Given the description of an element on the screen output the (x, y) to click on. 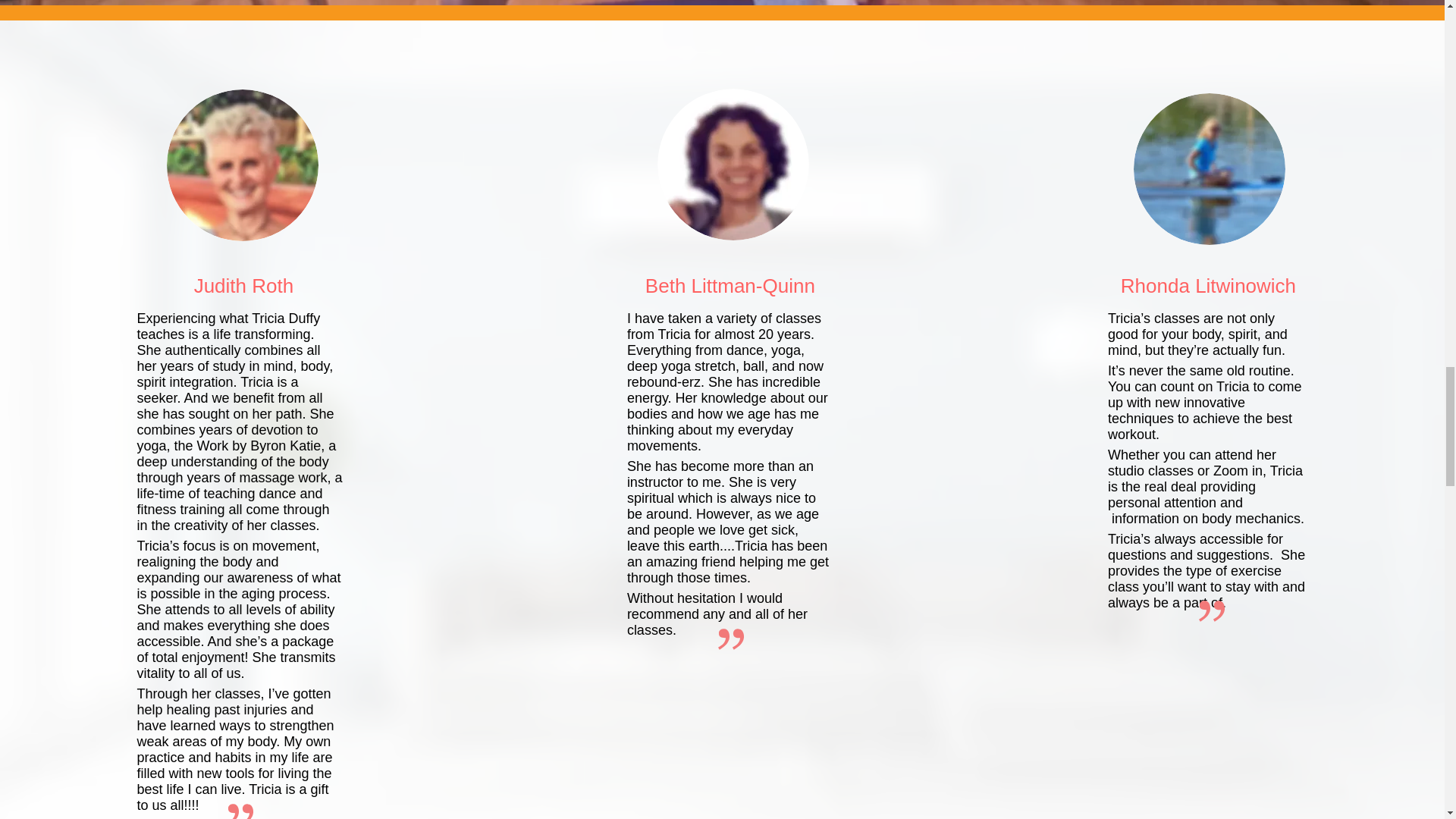
GettyImages-535587703.jpg (242, 164)
GettyImages-124893619.jpg (733, 164)
GettyImages-145680711.jpg (1209, 168)
